Given the description of an element on the screen output the (x, y) to click on. 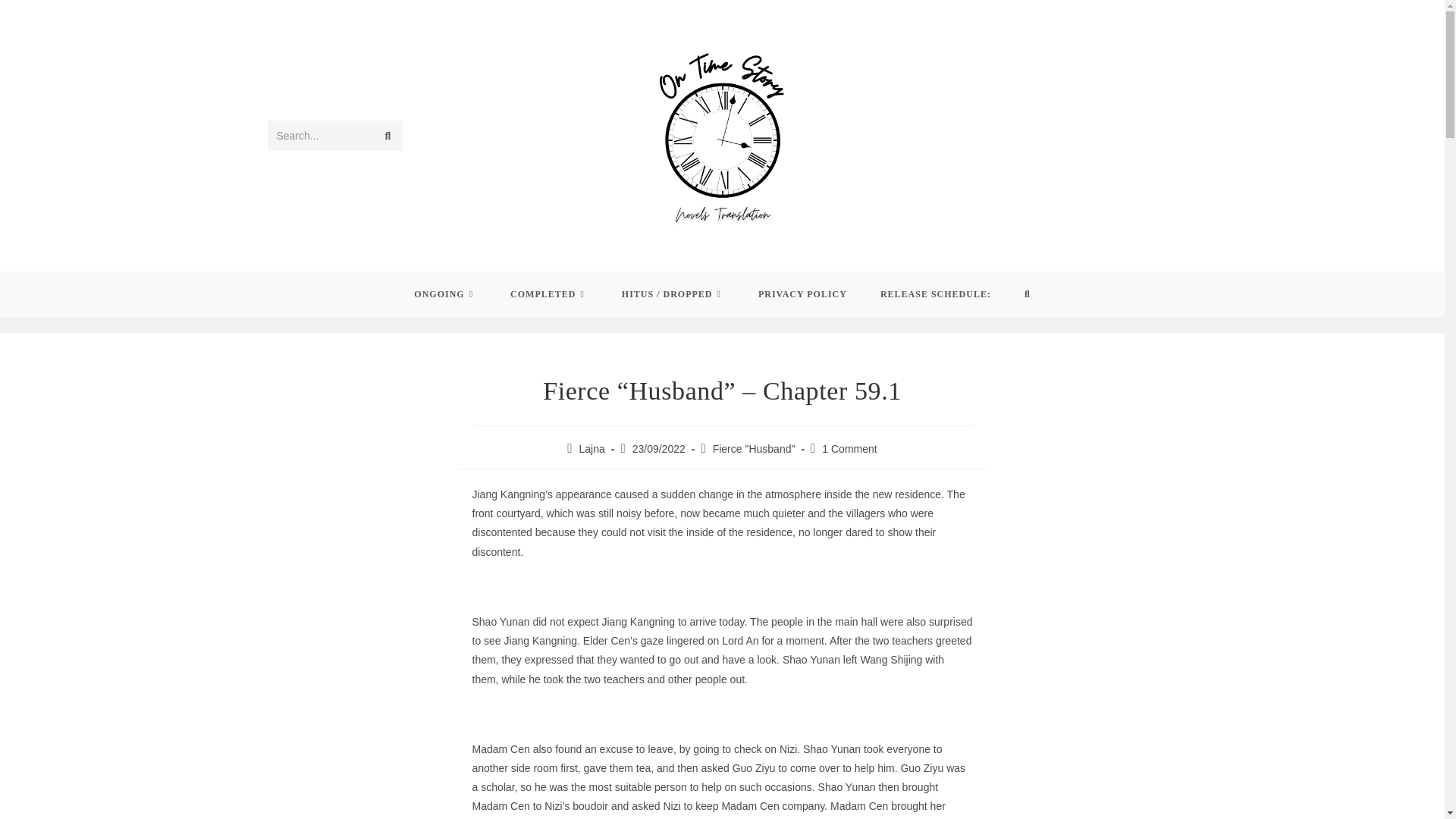
PRIVACY POLICY (802, 293)
Posts by Lajna (592, 449)
ONGOING (445, 293)
COMPLETED (549, 293)
RELEASE SCHEDULE: (935, 293)
Submit search (386, 135)
